Given the description of an element on the screen output the (x, y) to click on. 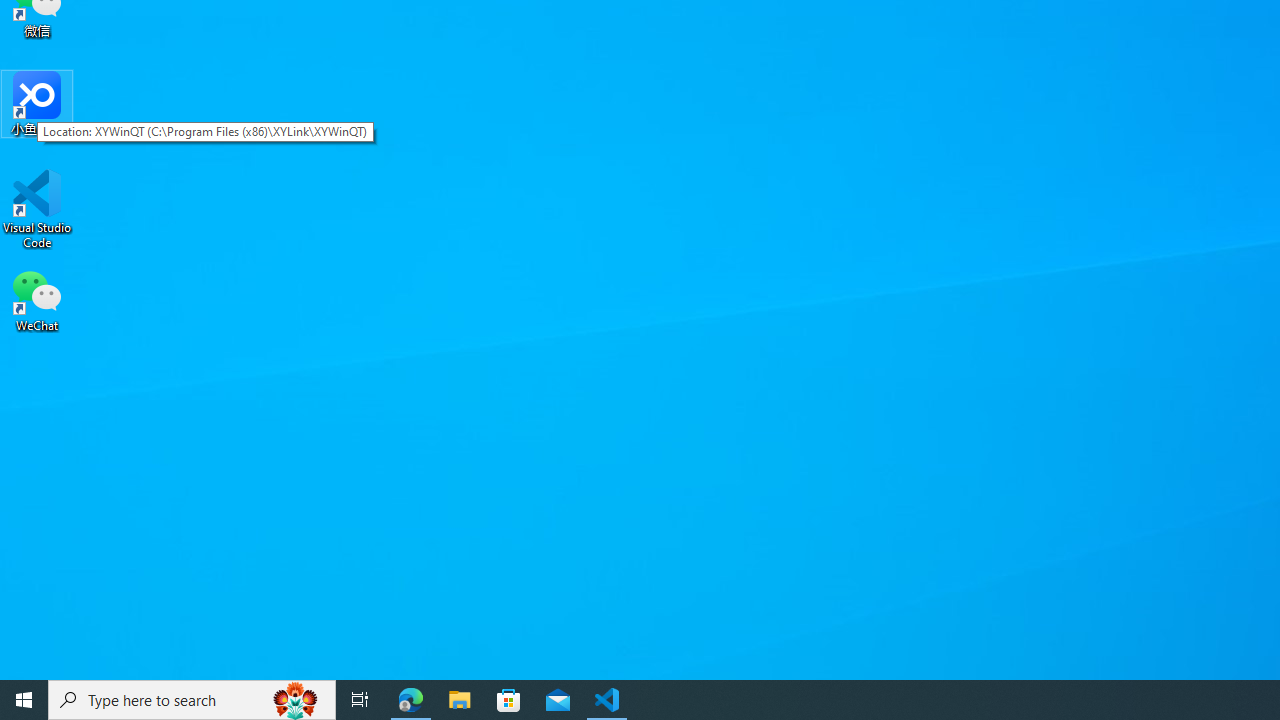
WeChat (37, 299)
Visual Studio Code (37, 209)
